Given the description of an element on the screen output the (x, y) to click on. 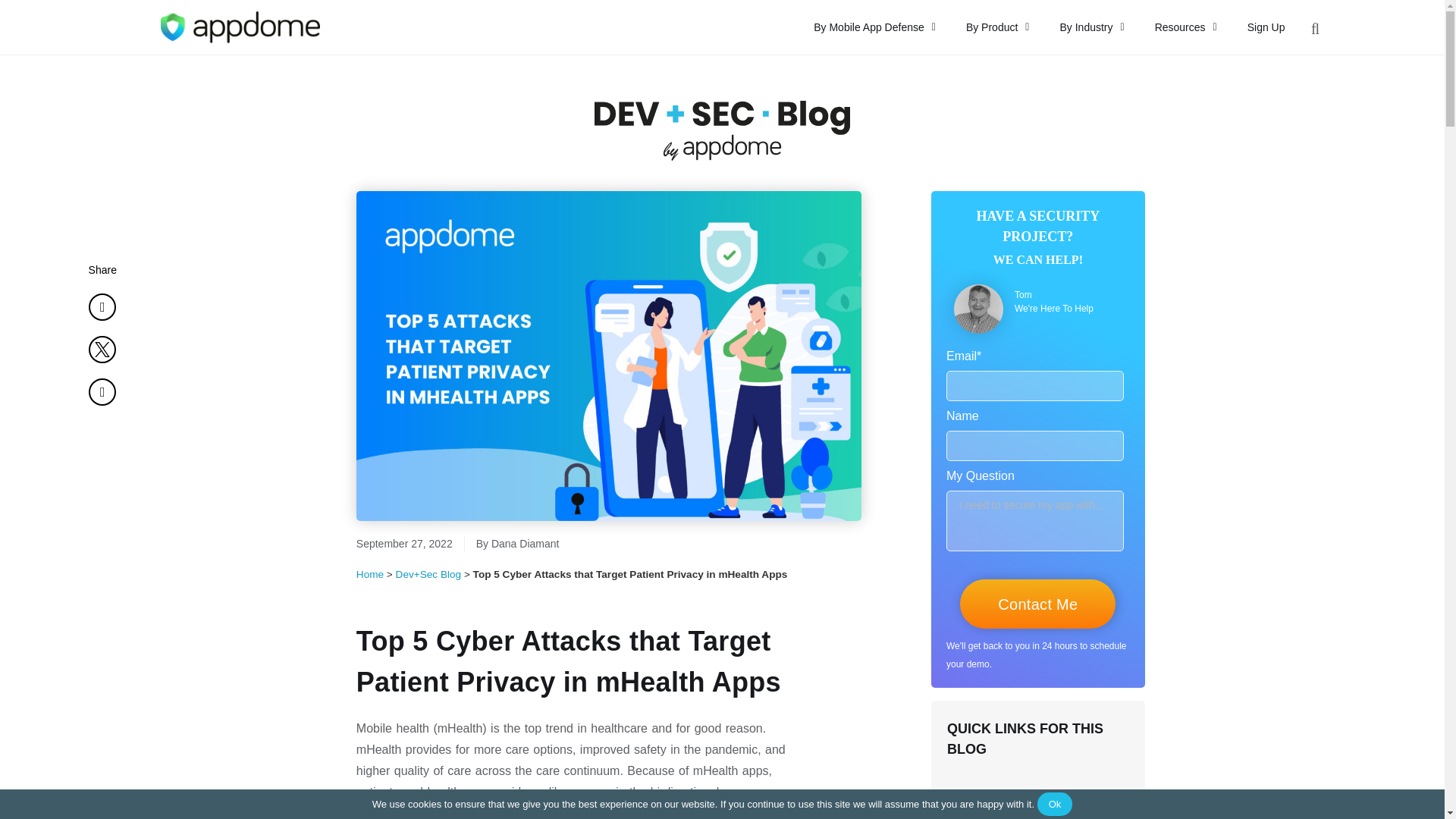
By Product (997, 27)
By Mobile App Defense (873, 27)
Appdome Logo (240, 27)
Contact Me (1037, 603)
